Given the description of an element on the screen output the (x, y) to click on. 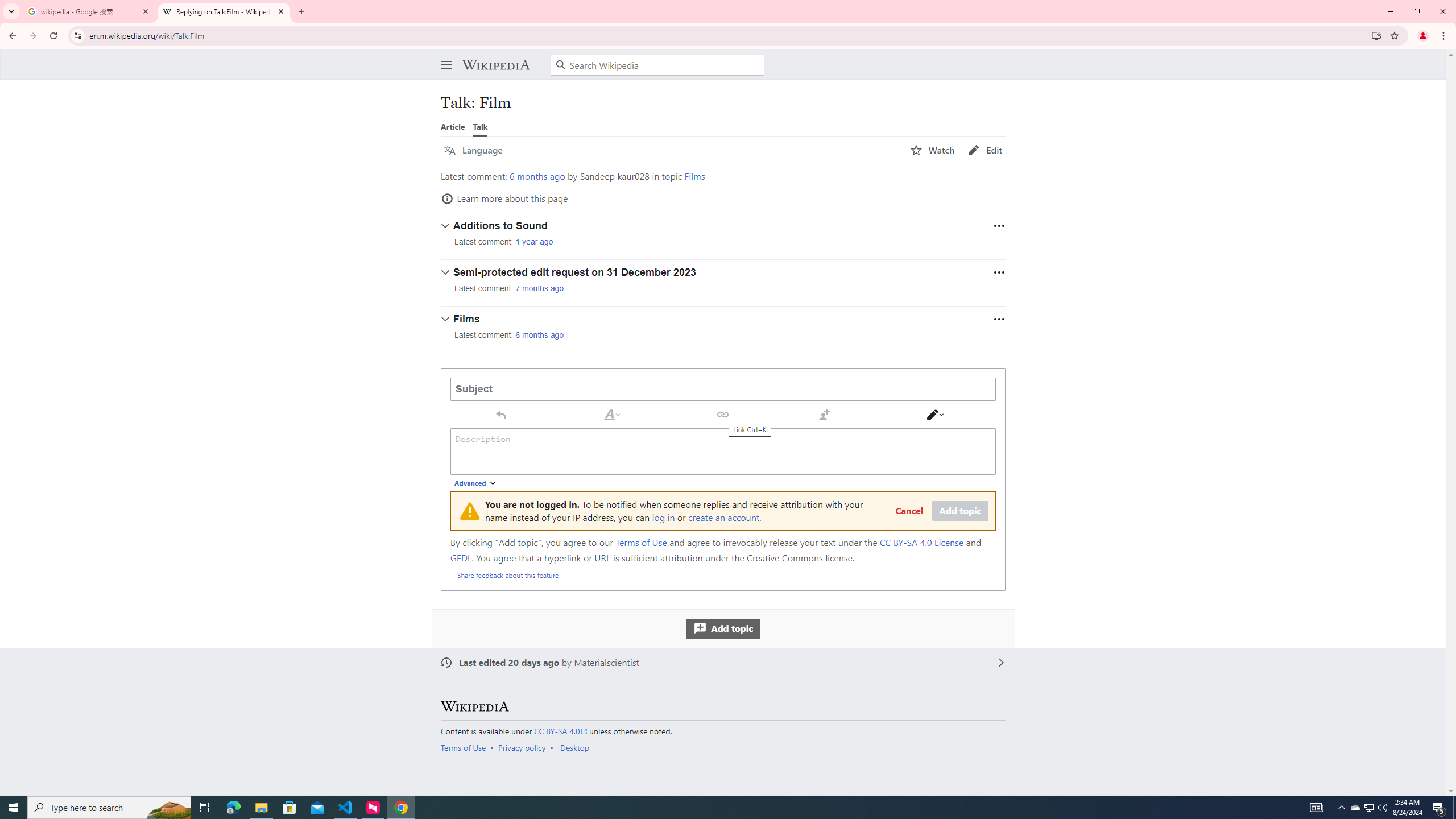
Switch editor (934, 414)
AutomationID: language-selector (670, 150)
Install Wikipedia (1376, 35)
GFDL (460, 557)
Watch (932, 149)
Subject (722, 388)
Wikipedia (474, 706)
Edit (984, 149)
Add topic (722, 628)
AutomationID: page-actions-edit (984, 150)
7 months ago (539, 288)
